Given the description of an element on the screen output the (x, y) to click on. 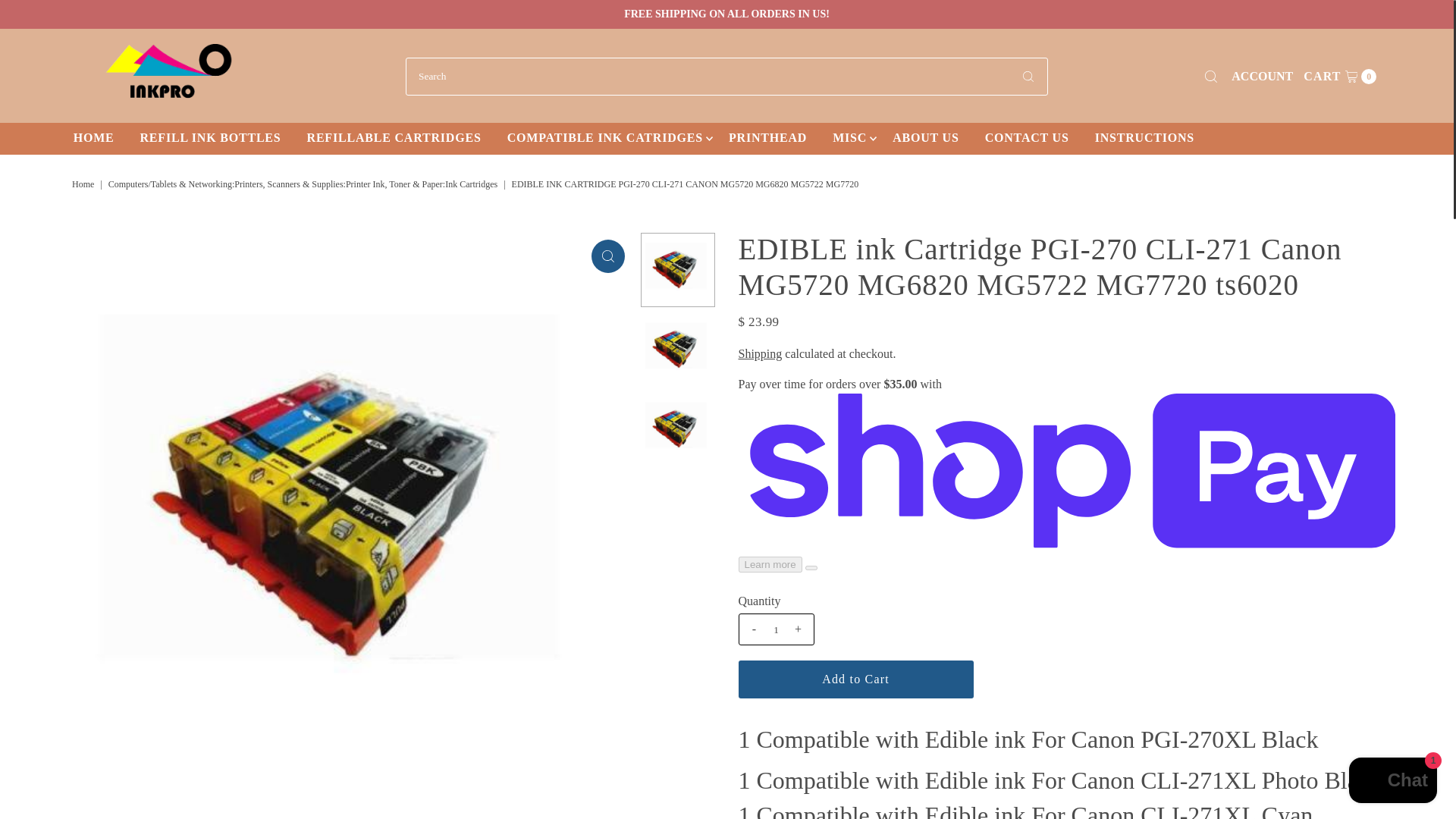
HOME (93, 137)
ACCOUNT (1262, 76)
REFILLABLE CARTRIDGES (394, 137)
MISC (1340, 76)
Add to Cart (849, 137)
PRINTHEAD (856, 679)
COMPATIBLE INK CATRIDGES (767, 137)
Click to zoom (605, 137)
Home (607, 255)
REFILL INK BOTTLES (84, 184)
